Given the description of an element on the screen output the (x, y) to click on. 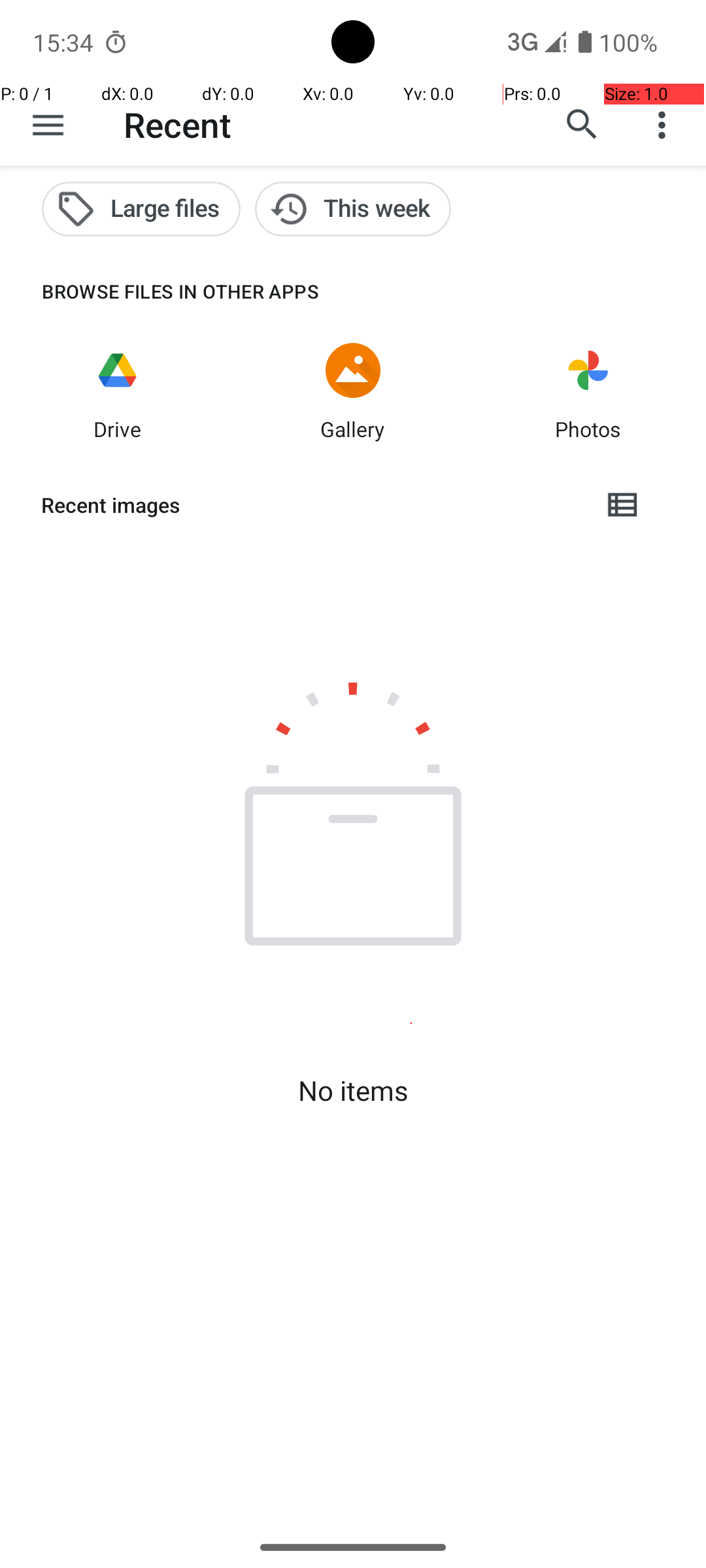
BROWSE FILES IN OTHER APPS Element type: android.widget.TextView (159, 291)
Recent images Element type: android.widget.TextView (311, 504)
Drive Element type: android.widget.TextView (117, 428)
Gallery Element type: android.widget.TextView (352, 428)
